Given the description of an element on the screen output the (x, y) to click on. 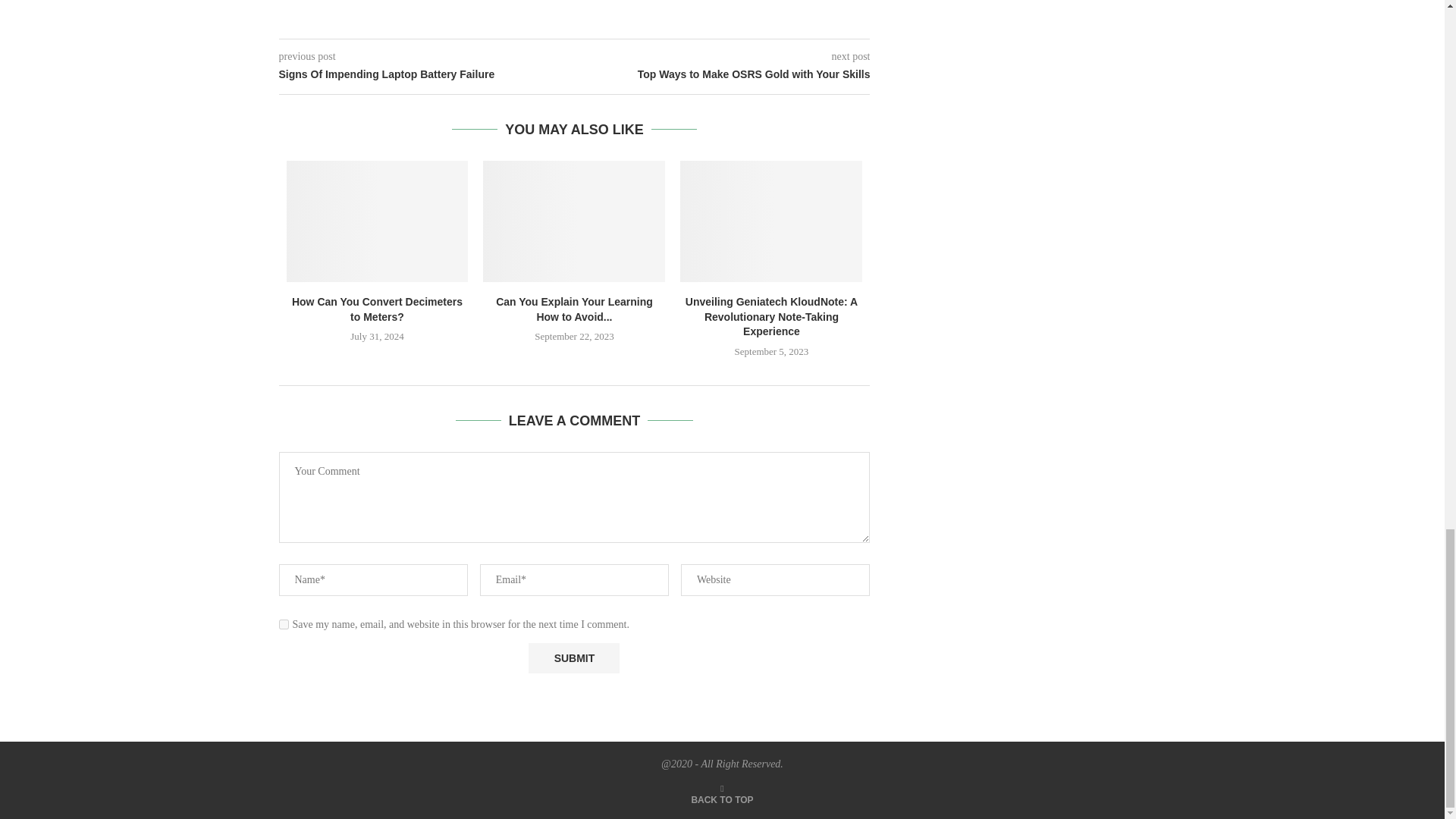
How Can You Convert Decimeters to Meters? (377, 308)
How Can You Convert Decimeters to Meters? (377, 220)
Signs Of Impending Laptop Battery Failure (427, 74)
Submit (574, 657)
Can You Explain Your Learning How to Avoid... (574, 308)
Top Ways to Make OSRS Gold with Your Skills (722, 74)
yes (283, 624)
